Given the description of an element on the screen output the (x, y) to click on. 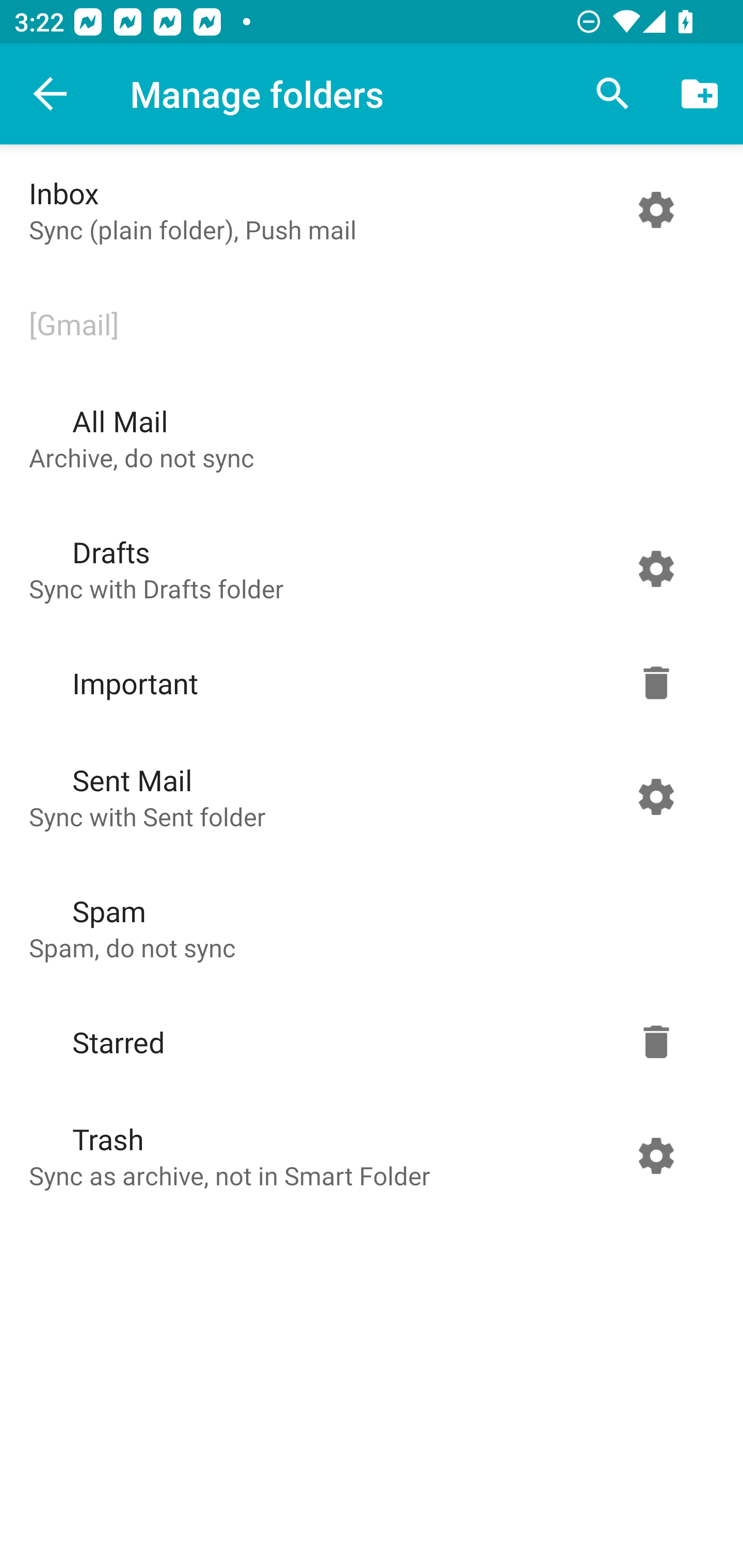
Navigate up (50, 93)
Search folders (612, 93)
Create folder (699, 93)
Folder settings (655, 209)
All Mail Archive, do not sync (367, 438)
Drafts Sync with Drafts folder Folder settings (367, 569)
Folder settings (655, 569)
Important Folder settings (367, 682)
Folder settings (655, 682)
Sent Mail Sync with Sent folder Folder settings (367, 796)
Folder settings (655, 796)
Spam Spam, do not sync (367, 928)
Starred Folder settings (367, 1041)
Folder settings (655, 1041)
Folder settings (655, 1155)
